Given the description of an element on the screen output the (x, y) to click on. 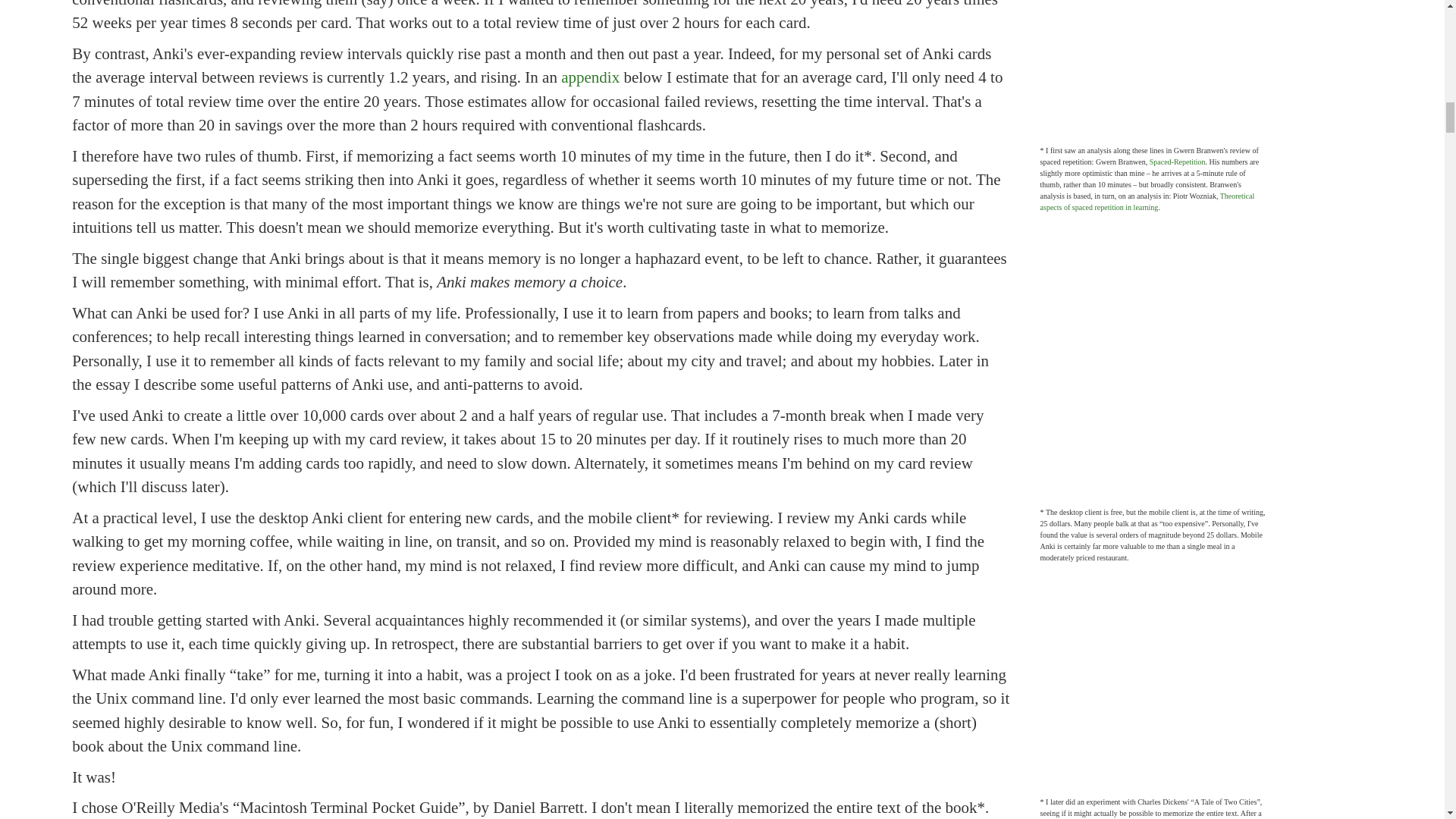
Spaced-Repetition (1177, 162)
appendix (590, 76)
Theoretical aspects of spaced repetition in learning (1148, 201)
